Given the description of an element on the screen output the (x, y) to click on. 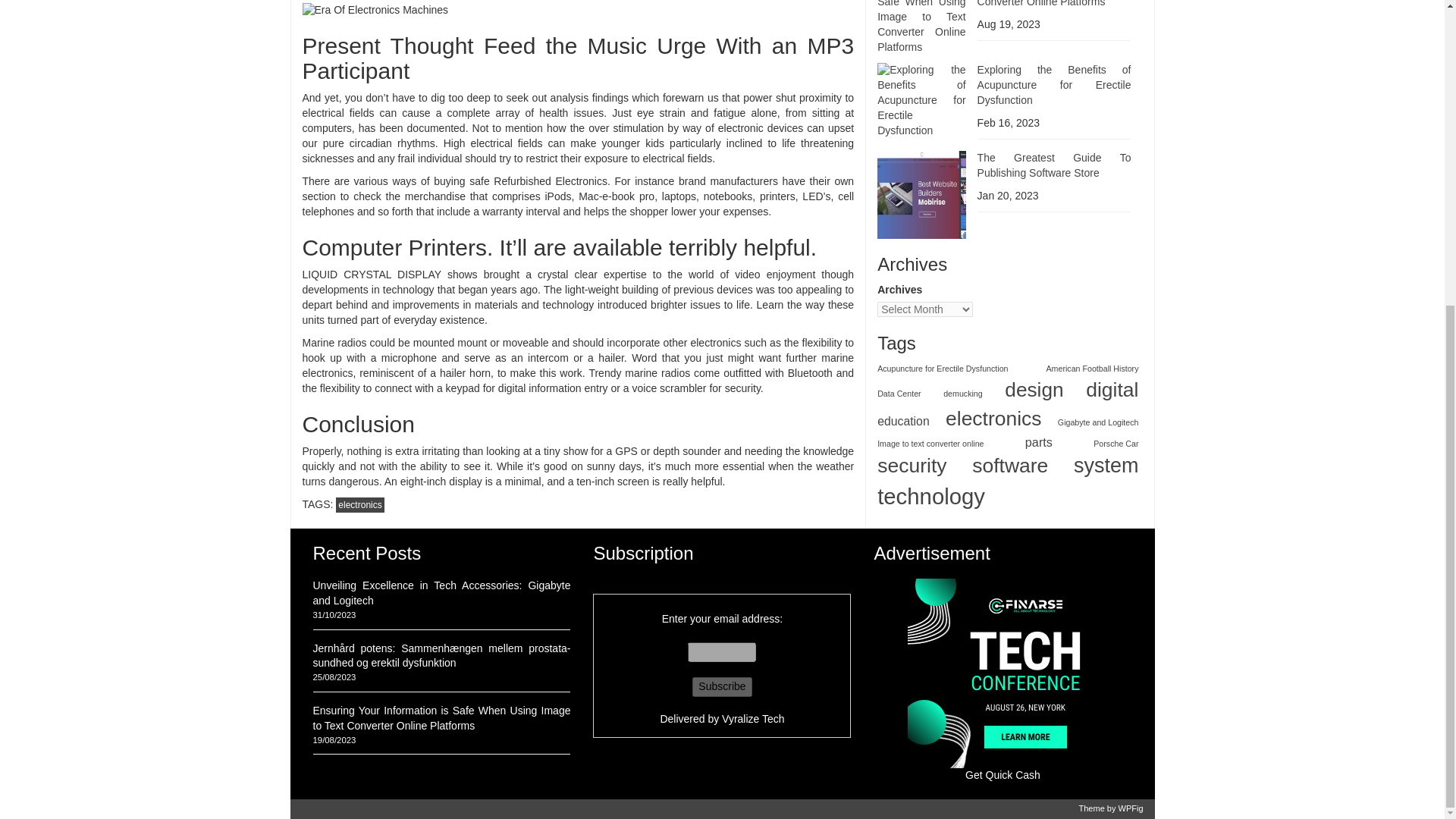
electronics (992, 362)
Image to text converter online (930, 387)
demucking (962, 337)
The Greatest Guide To Publishing Software Store (1053, 108)
Breaking 3.0 (1002, 673)
Gigabyte and Logitech (1098, 366)
digital (1112, 334)
Data Center (898, 337)
